Given the description of an element on the screen output the (x, y) to click on. 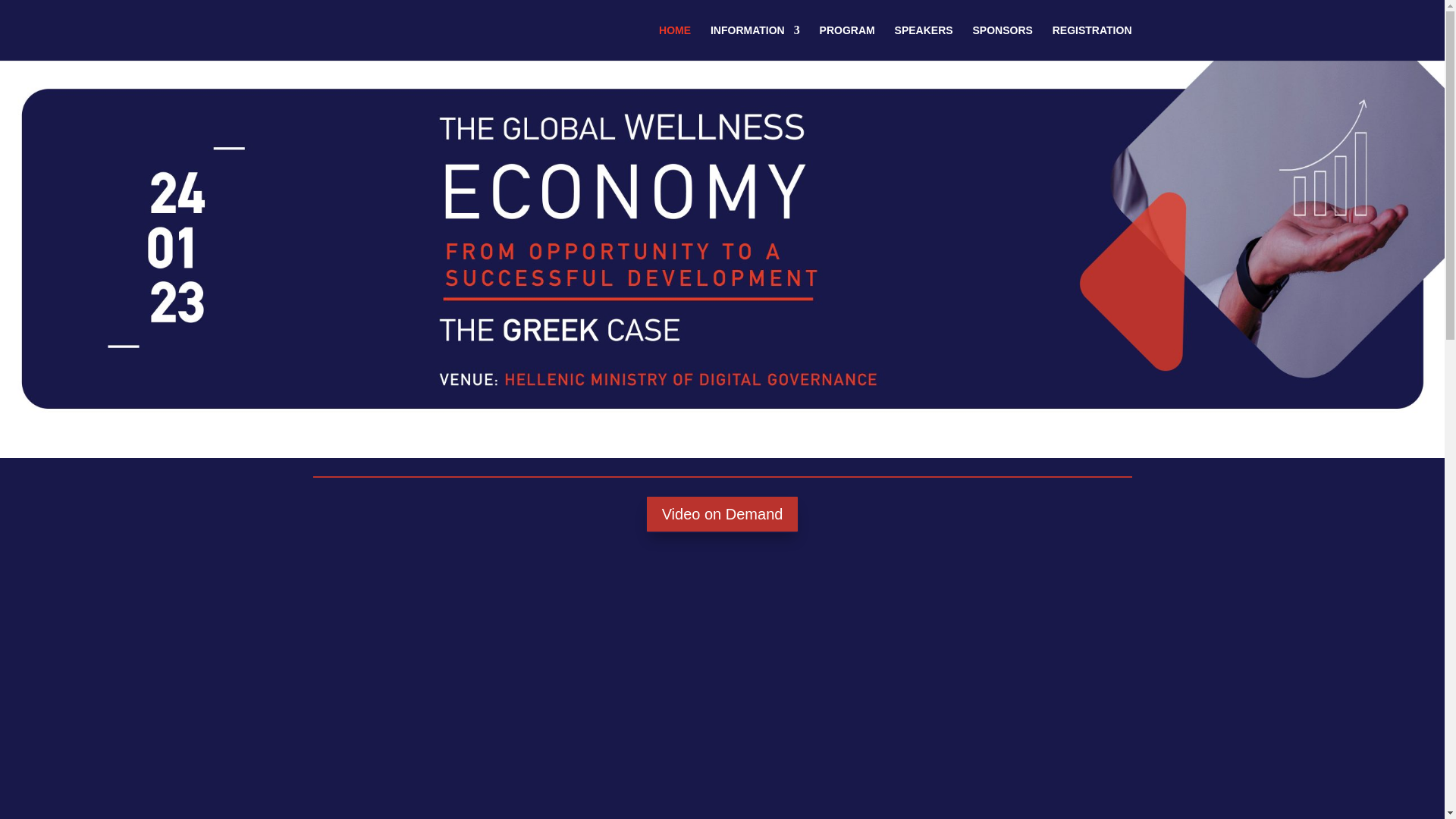
REGISTRATION (1092, 42)
SPEAKERS (924, 42)
HOME (674, 42)
PROGRAM (847, 42)
Video on Demand (722, 514)
INFORMATION (754, 42)
SPONSORS (1002, 42)
